Given the description of an element on the screen output the (x, y) to click on. 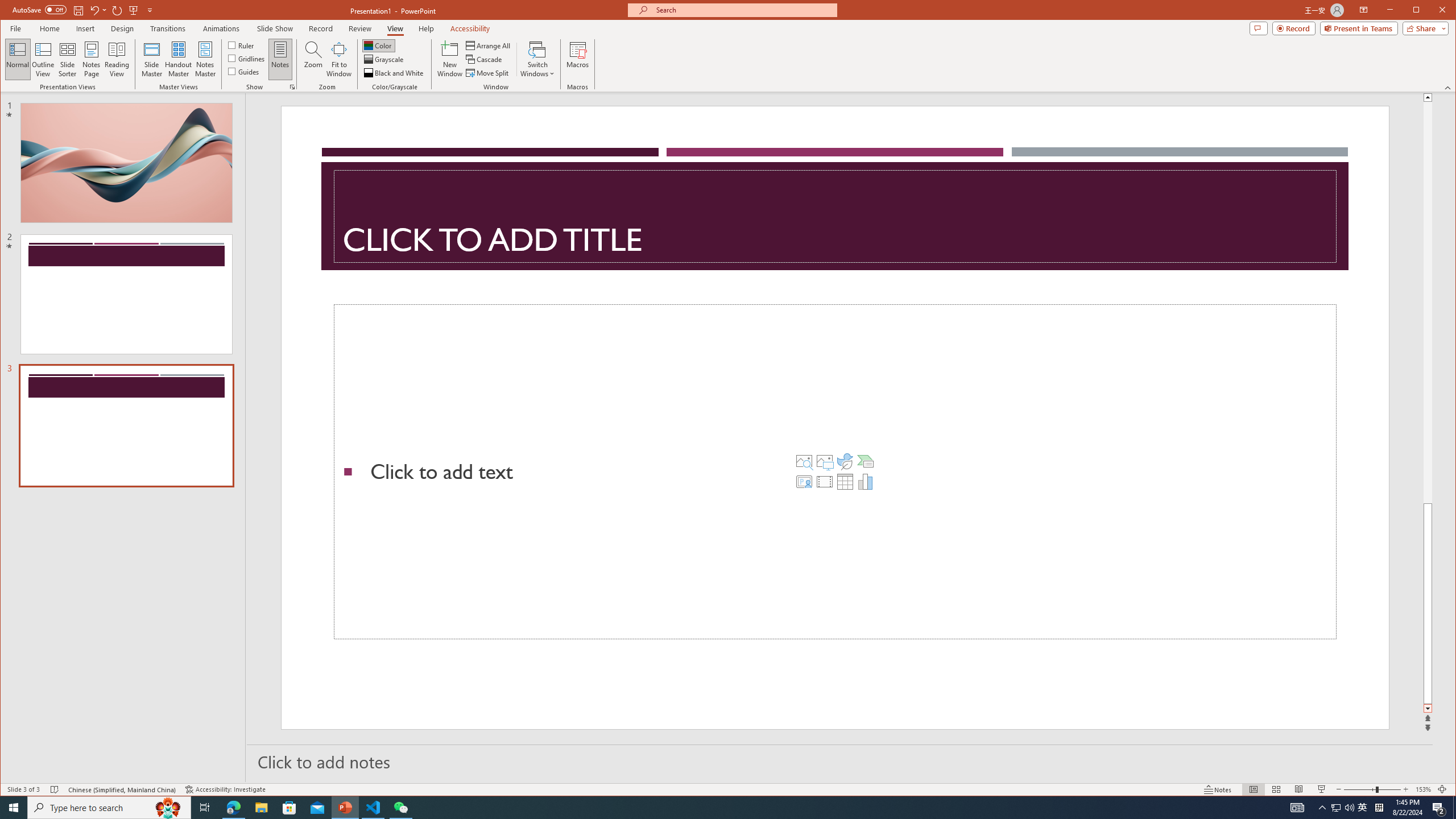
Microsoft Edge - 1 running window (233, 807)
Slide Master (151, 59)
Maximize (1432, 11)
